Given the description of an element on the screen output the (x, y) to click on. 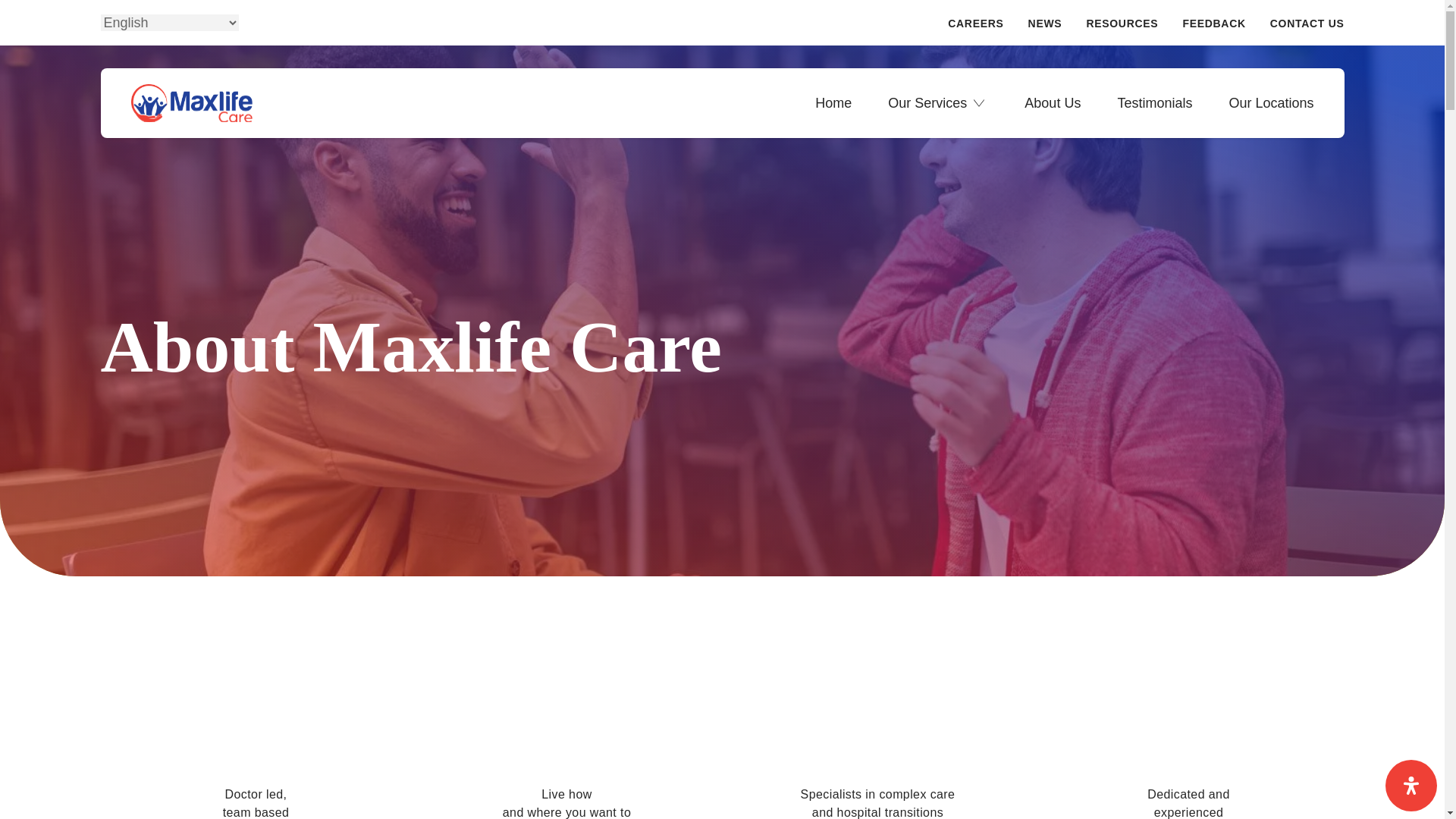
Testimonials (1154, 102)
NEWS (1044, 25)
About Us (1052, 102)
Our Services (927, 102)
FEEDBACK (1213, 25)
Home (833, 102)
Our Locations (1270, 102)
CAREERS (975, 25)
RESOURCES (1121, 25)
CONTACT US (1306, 25)
